Given the description of an element on the screen output the (x, y) to click on. 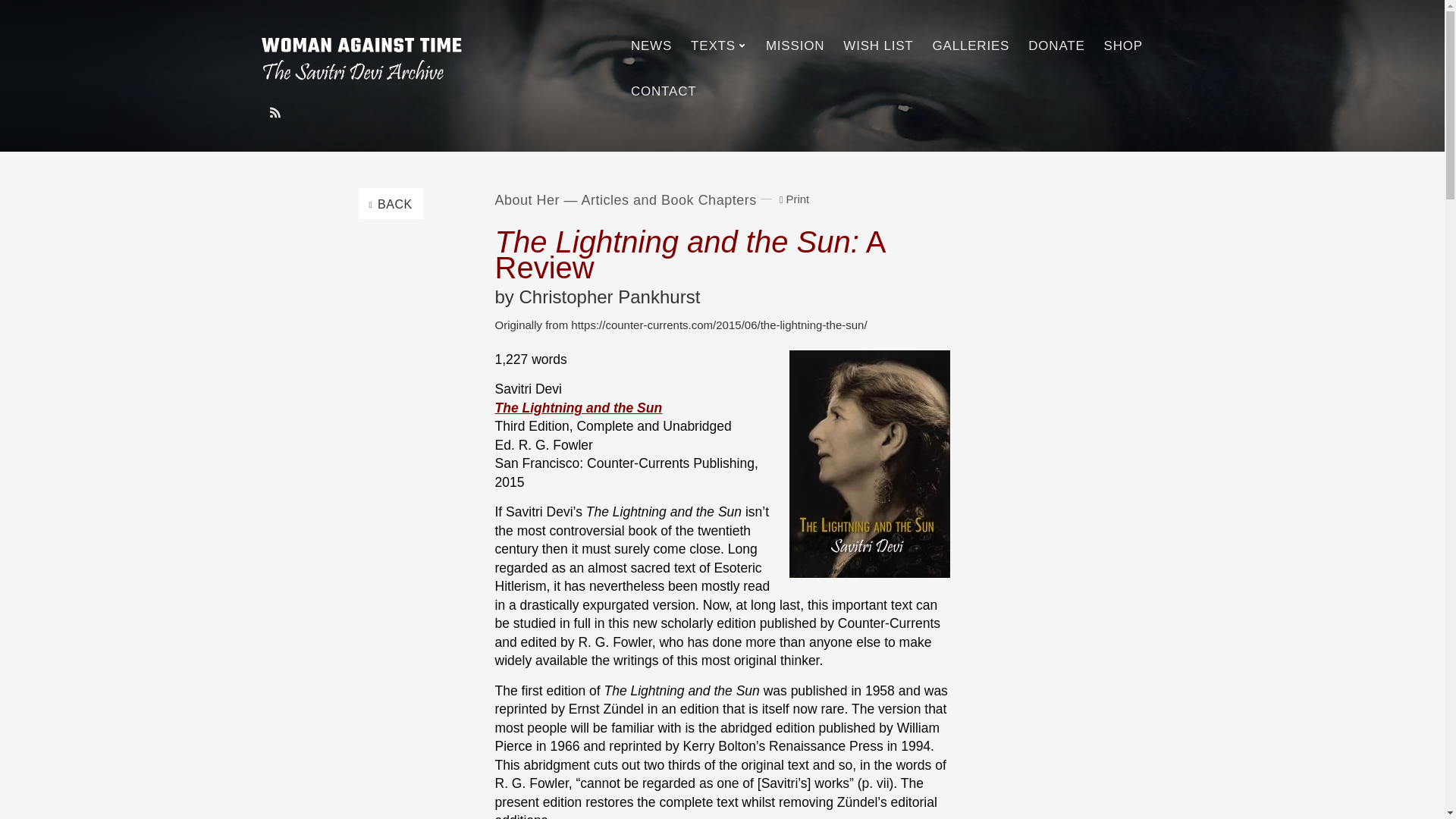
The Lightning and the Sun (578, 407)
DONATE (1056, 44)
GALLERIES (970, 44)
SHOP (1123, 44)
Print (794, 198)
CONTACT (663, 90)
Print (794, 198)
BACK (390, 203)
MISSION (794, 44)
TEXTS (718, 44)
NEWS (651, 44)
WISH LIST (877, 44)
